Given the description of an element on the screen output the (x, y) to click on. 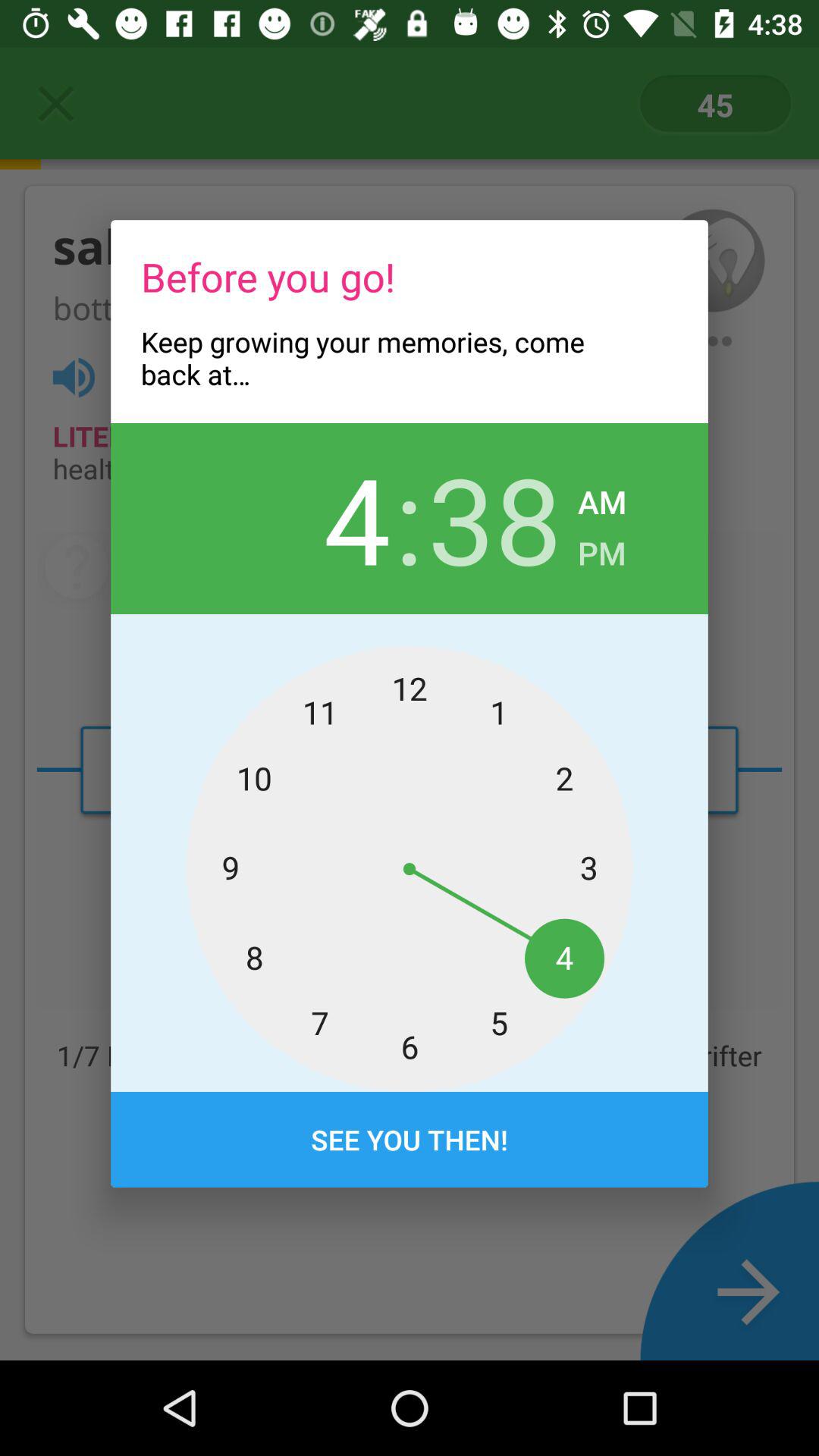
click see you then! at the bottom (409, 1139)
